Given the description of an element on the screen output the (x, y) to click on. 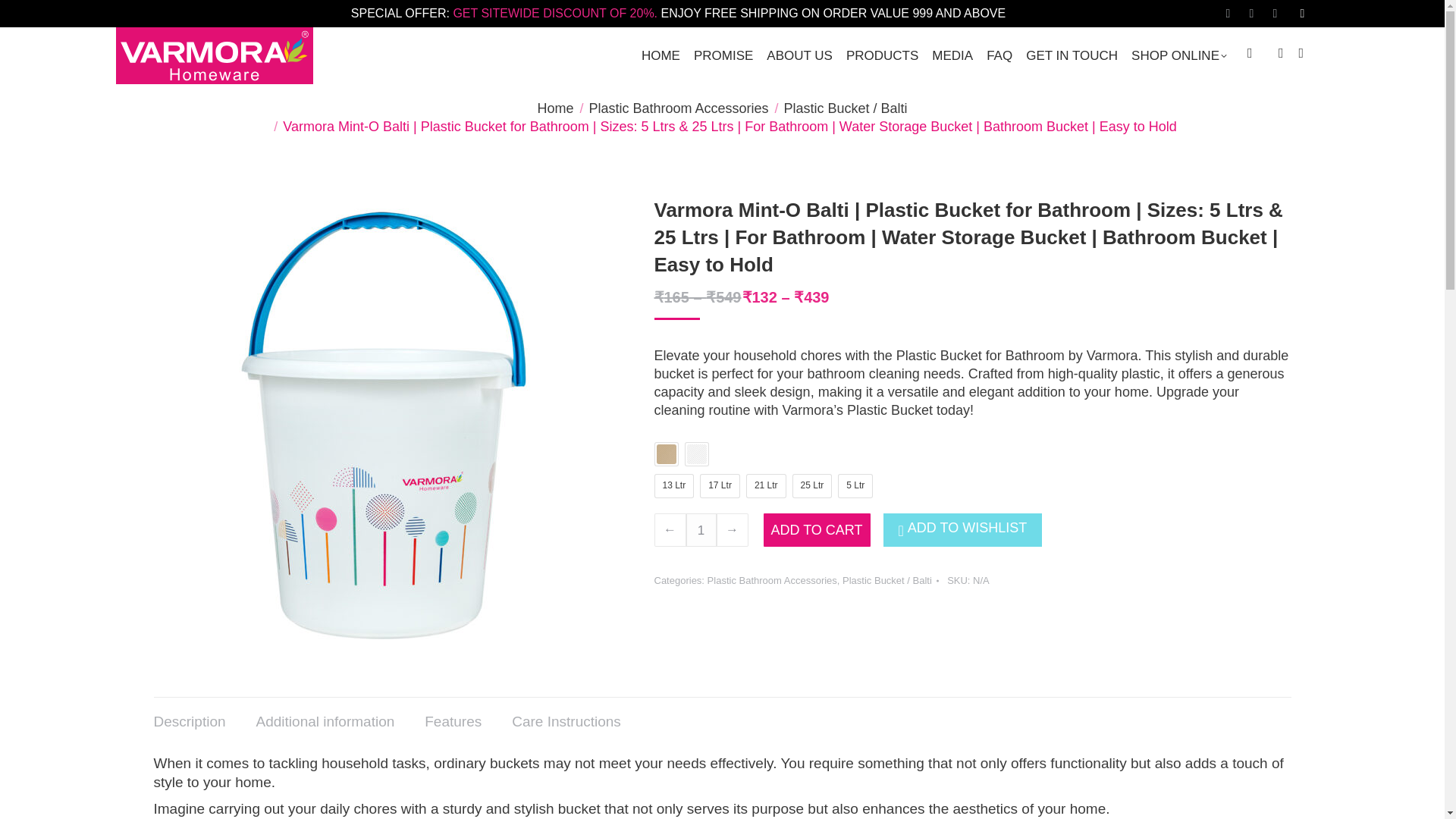
PRODUCTS (882, 55)
Go! (18, 15)
Facebook page opens in new window (1228, 13)
Instagram page opens in new window (1275, 13)
Facebook page opens in new window (1228, 13)
FAQ (999, 55)
MEDIA (951, 55)
ABOUT US (798, 55)
PROMISE (722, 55)
HOME (660, 55)
GET IN TOUCH (1072, 55)
Instagram page opens in new window (1275, 13)
SHOP ONLINE (1179, 55)
Home (555, 108)
X page opens in new window (1251, 13)
